Given the description of an element on the screen output the (x, y) to click on. 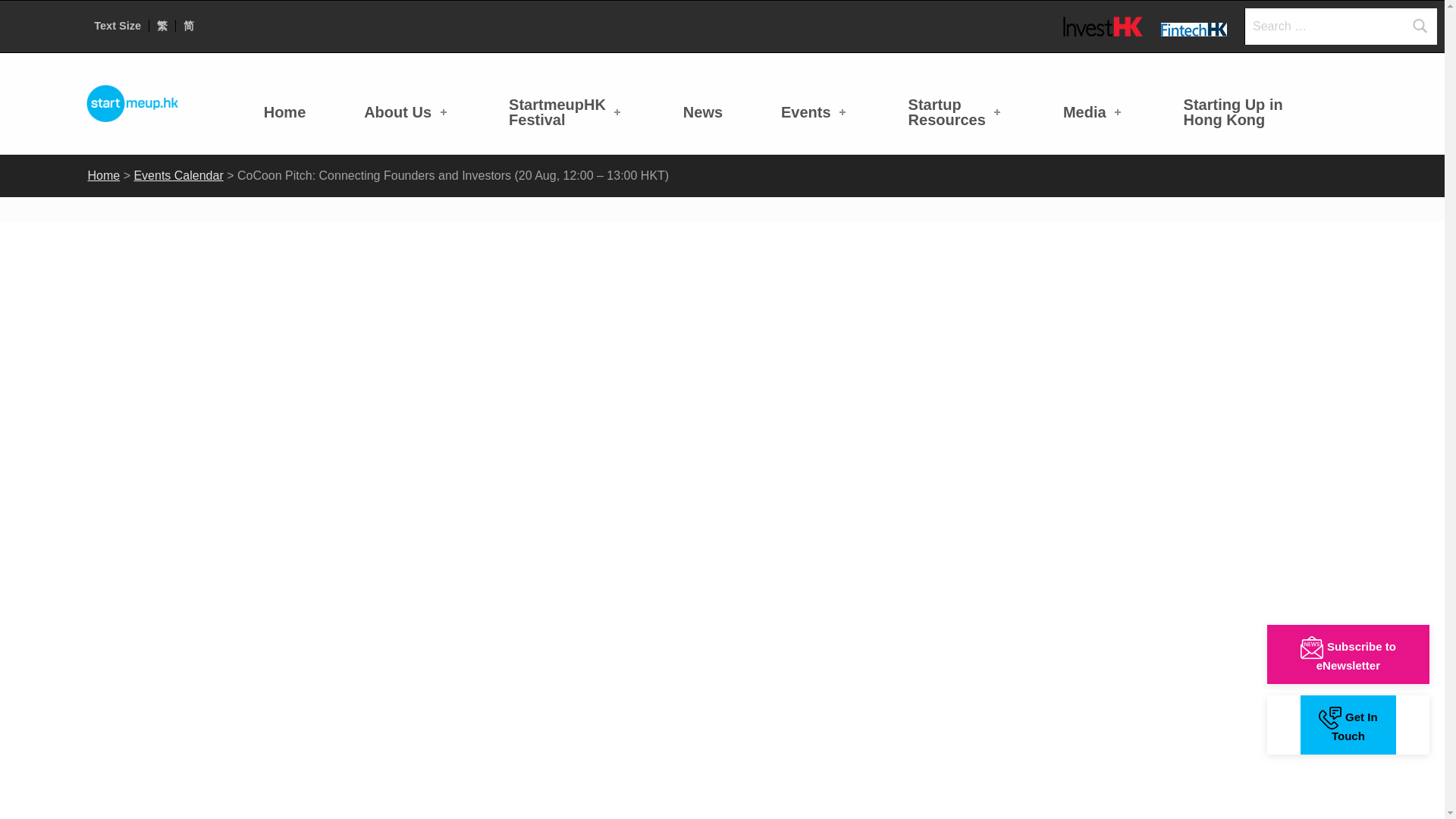
InvestHK logo (1102, 26)
About Us (406, 111)
Home (285, 111)
Events (815, 111)
fintechhk (1193, 29)
News (565, 111)
